Given the description of an element on the screen output the (x, y) to click on. 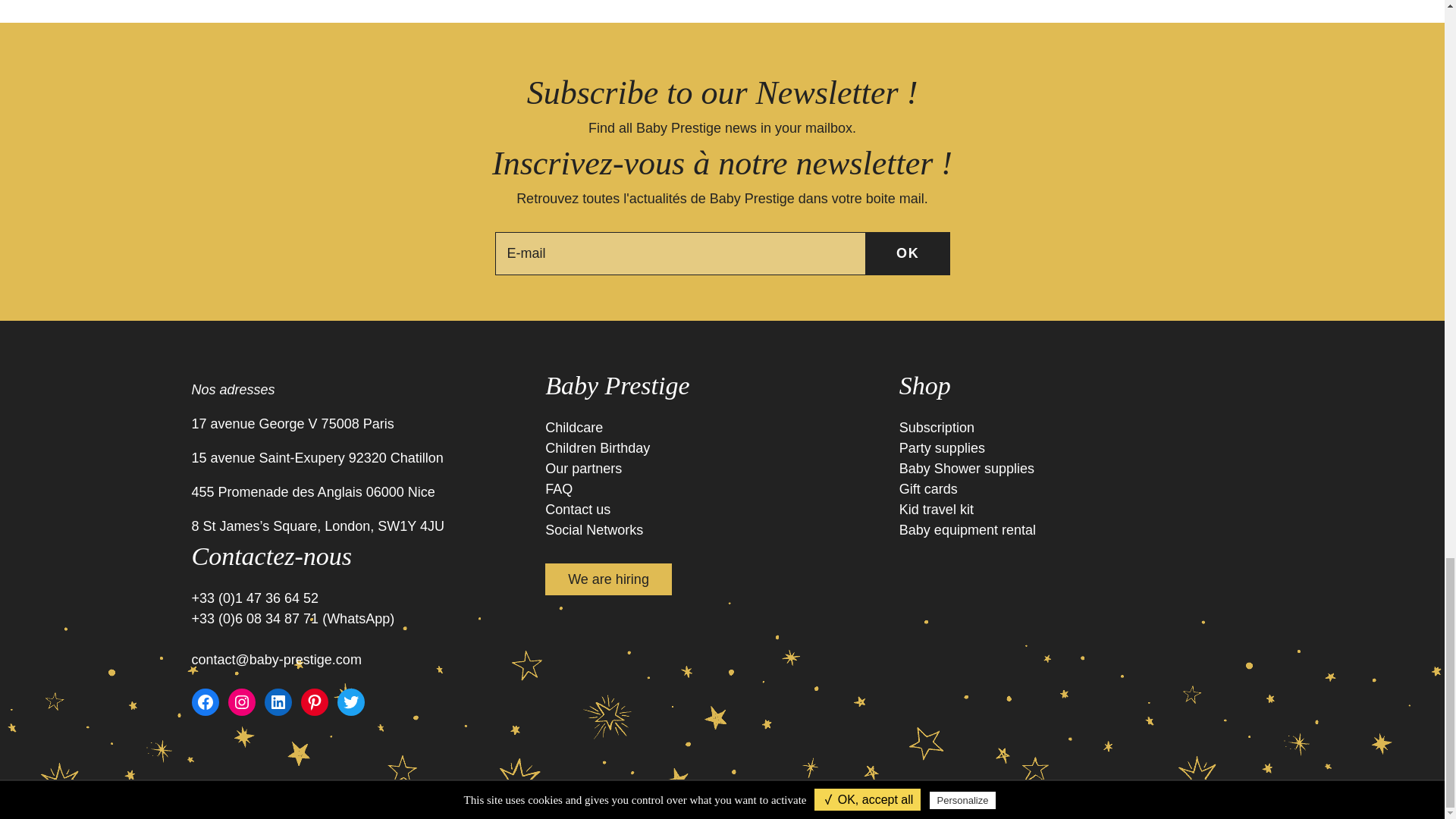
OK (908, 253)
